Given the description of an element on the screen output the (x, y) to click on. 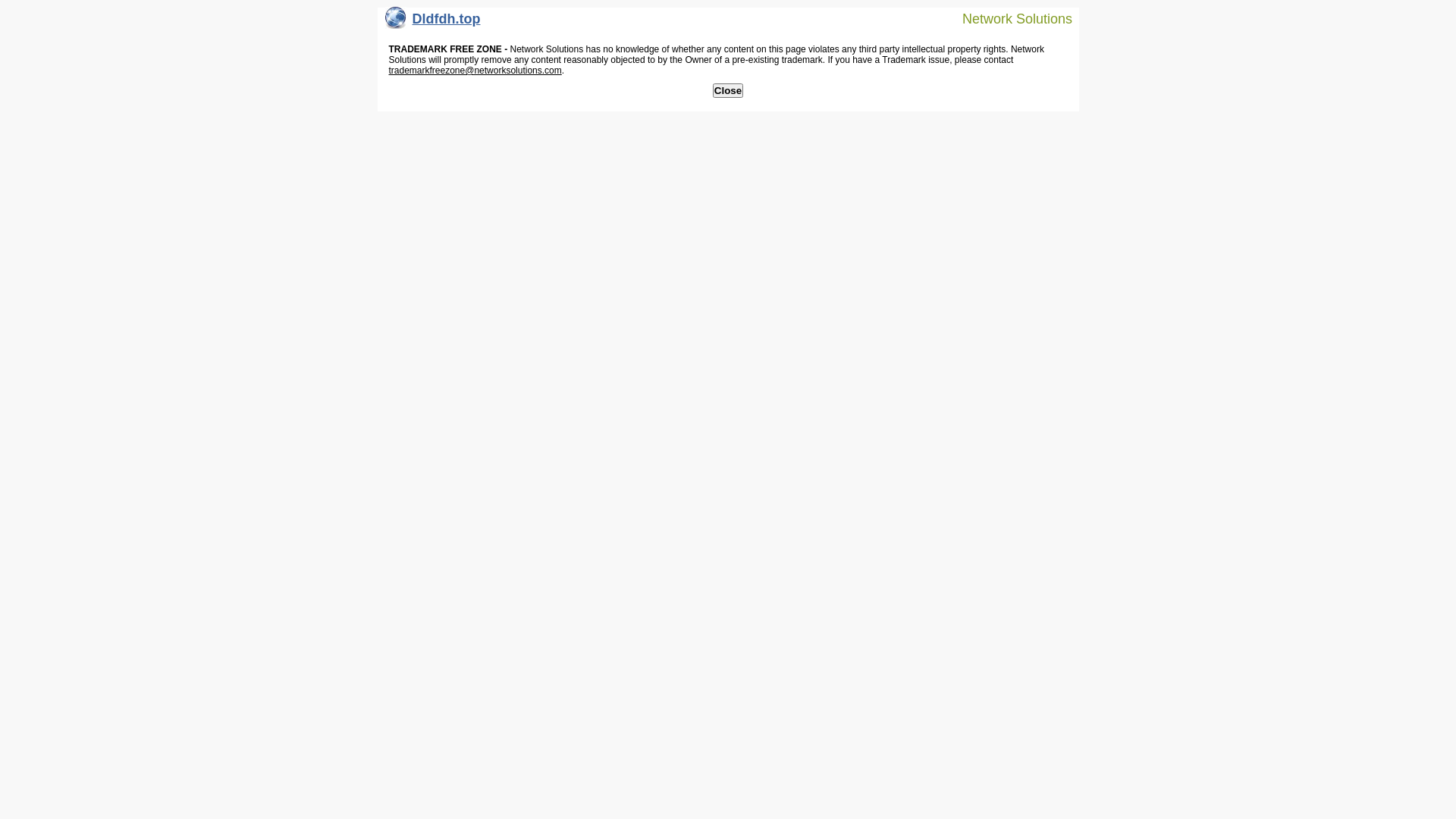
Close Element type: text (727, 90)
trademarkfreezone@networksolutions.com Element type: text (474, 70)
Network Solutions Element type: text (1007, 17)
Dldfdh.top Element type: text (432, 21)
